Given the description of an element on the screen output the (x, y) to click on. 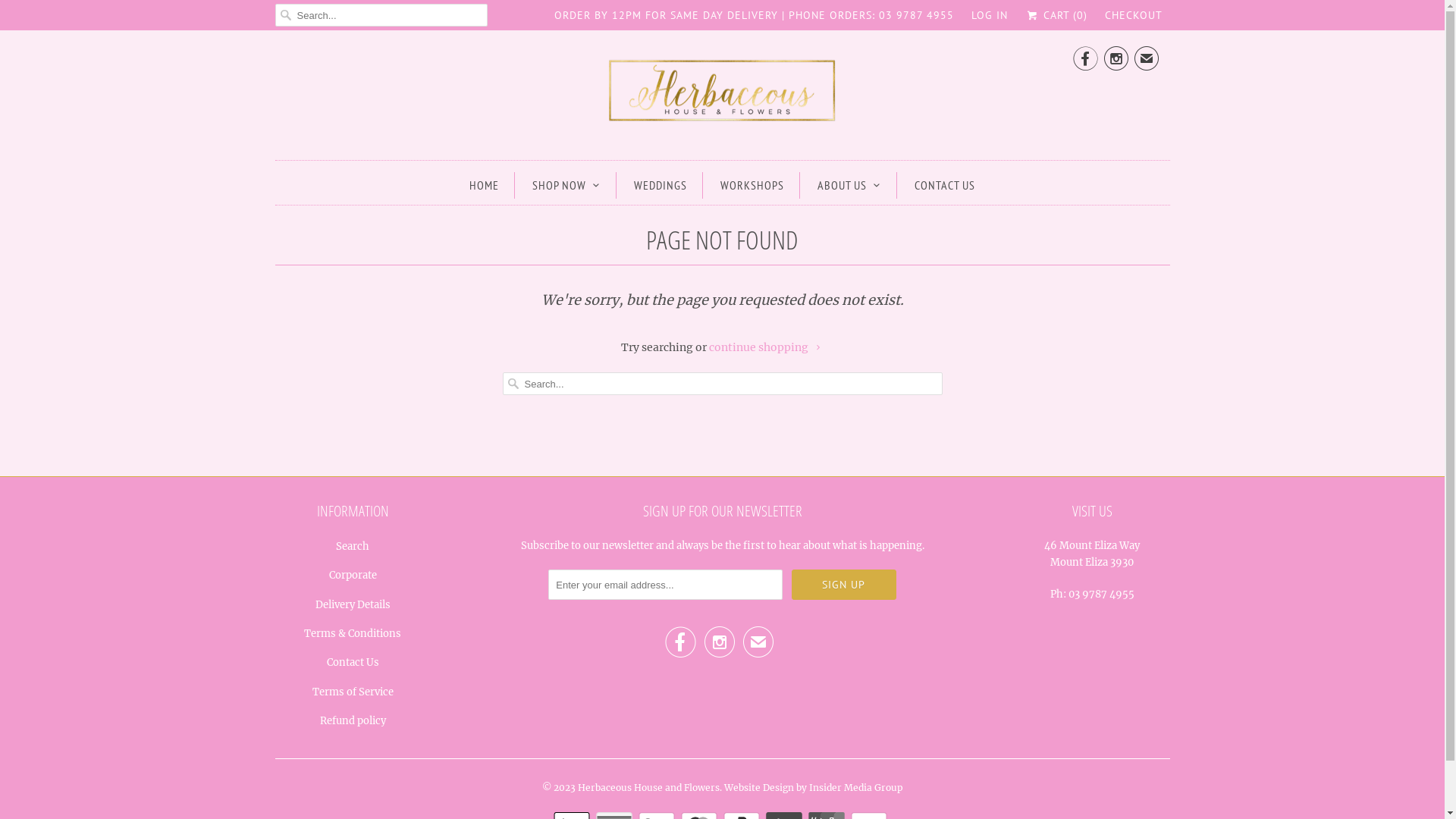
SHOP NOW Element type: text (566, 185)
HOME Element type: text (483, 185)
CONTACT US Element type: text (944, 185)
Corporate Element type: text (352, 574)
Terms & Conditions Element type: text (352, 633)
CART (0) Element type: text (1055, 14)
Refund policy Element type: text (352, 720)
ABOUT US Element type: text (849, 185)
continue shopping Element type: text (766, 347)
Terms of Service Element type: text (352, 691)
Herbaceous House and Flowers Element type: text (648, 782)
WORKSHOPS Element type: text (752, 185)
CHECKOUT Element type: text (1132, 14)
Sign Up Element type: text (843, 584)
LOG IN Element type: text (989, 14)
Herbaceous House and Flowers Element type: hover (721, 92)
WEDDINGS Element type: text (660, 185)
Contact Us Element type: text (352, 661)
Website Design by Insider Media Group Element type: text (812, 782)
Delivery Details Element type: text (352, 604)
03 9787 4955 Element type: text (1100, 593)
Search Element type: text (352, 545)
